Given the description of an element on the screen output the (x, y) to click on. 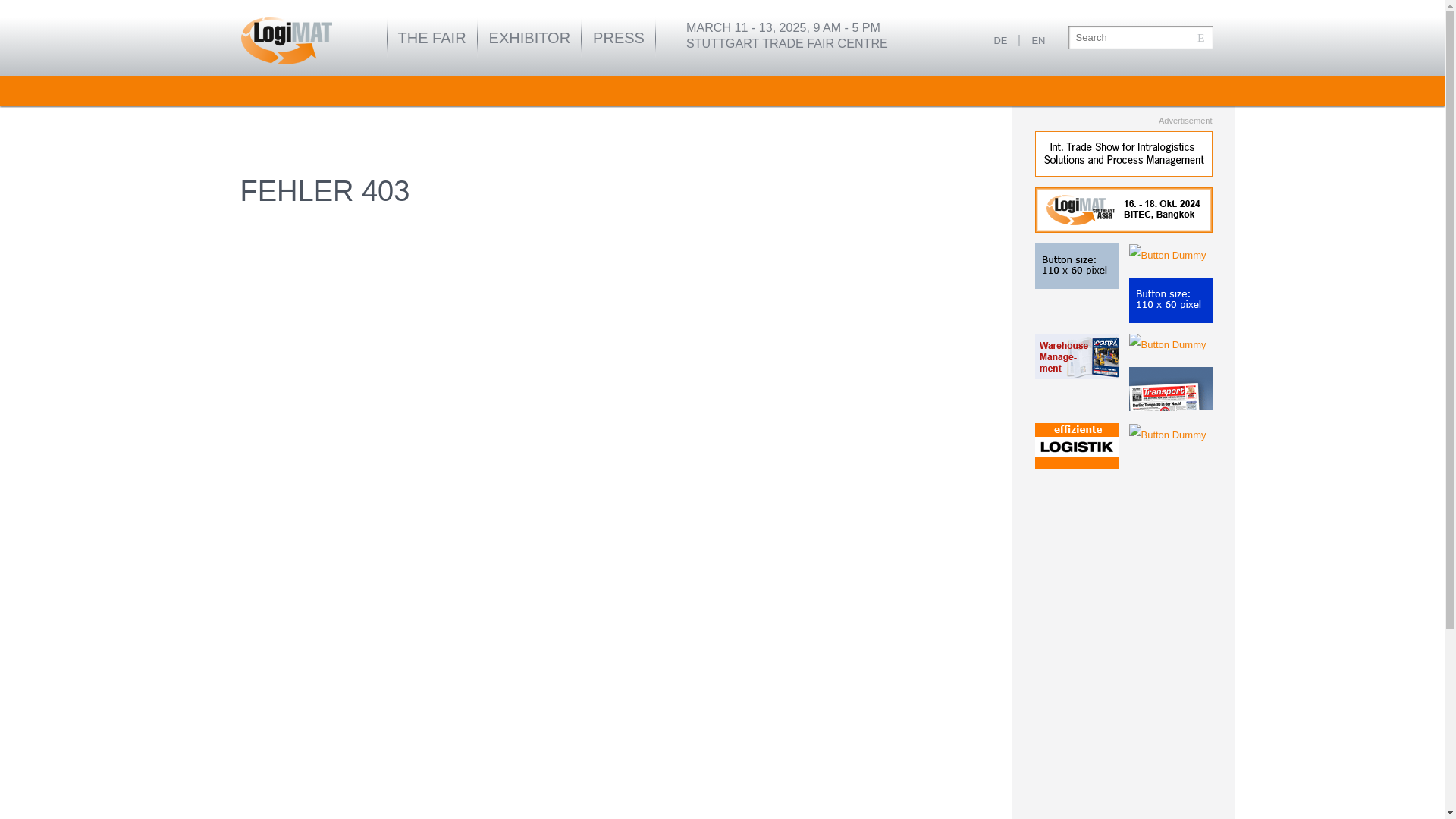
PRESS (618, 37)
THE FAIR (431, 37)
Enter the terms you wish to search for. (1139, 36)
Logistra (1075, 356)
EN (1032, 40)
This could be your button place! (1169, 299)
This could be your button place! (1166, 435)
Transport (1169, 389)
Start (290, 38)
